Given the description of an element on the screen output the (x, y) to click on. 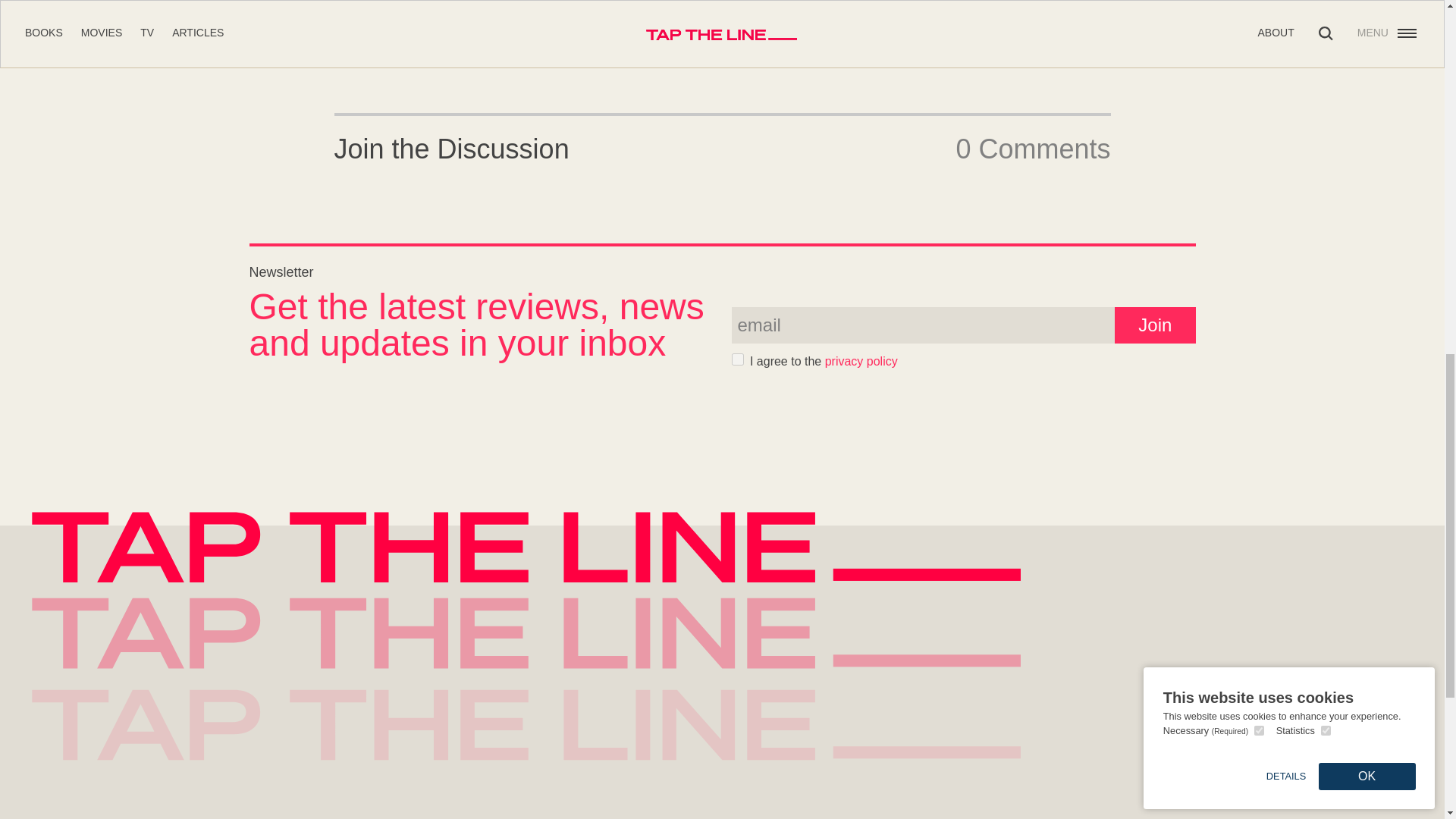
on (736, 358)
twitter (686, 29)
facebook (725, 29)
privacy policy (861, 360)
Join (1155, 325)
Join (1155, 325)
